Given the description of an element on the screen output the (x, y) to click on. 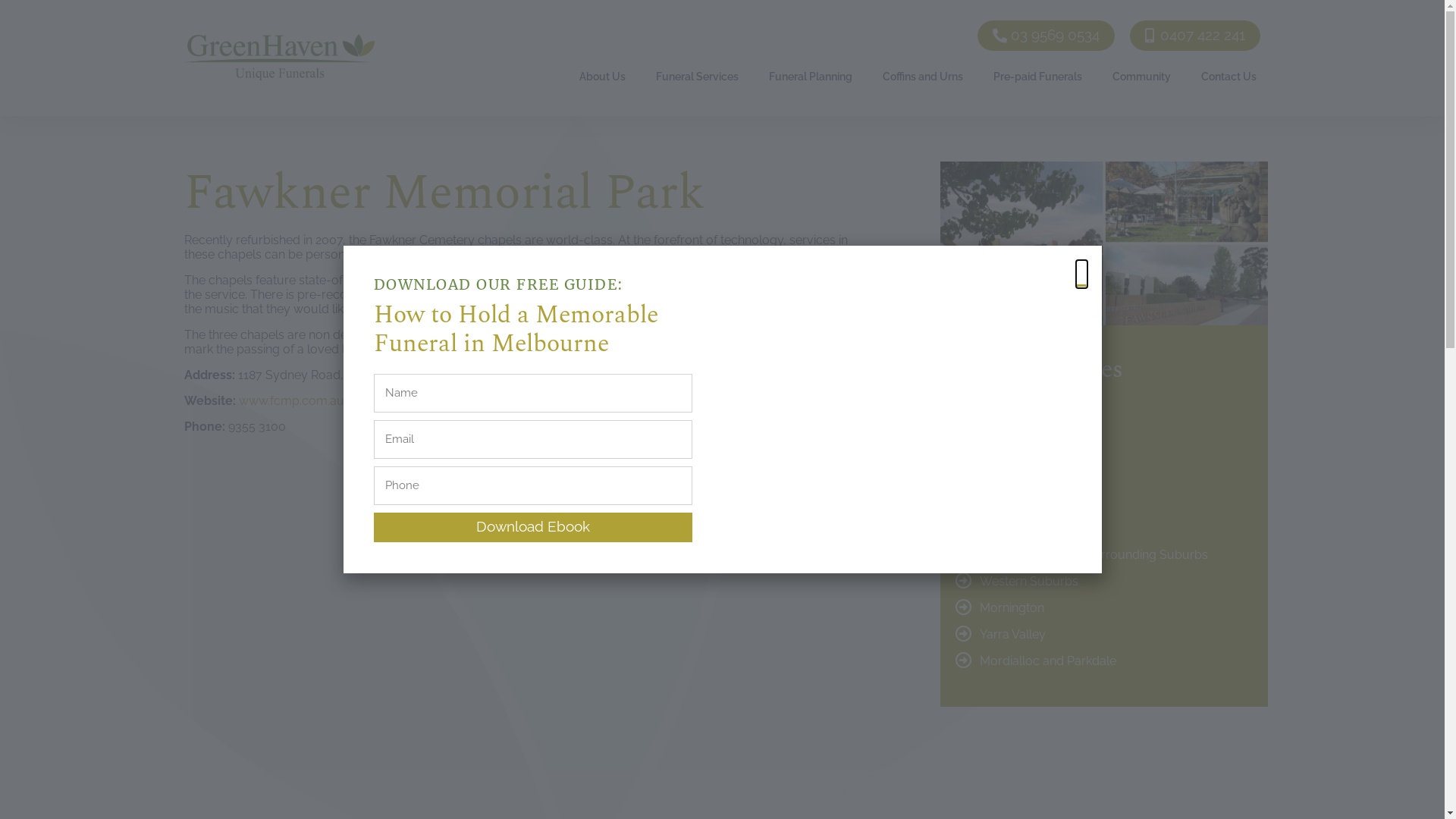
03 9569 0534 Element type: text (1045, 35)
Western Suburbs Element type: text (1103, 580)
Mordialloc and Parkdale Element type: text (1103, 660)
Yarra Valley Element type: text (1103, 633)
Funeral Planning Element type: text (810, 76)
Community Element type: text (1141, 76)
Download Ebook Element type: text (532, 527)
Coffins and Urns Element type: text (949, 37)
About Us Element type: text (602, 76)
Inner City Suburbs Element type: text (1103, 500)
Eastern Suburbs Element type: text (1103, 474)
Funeral Services Element type: text (697, 76)
www.fcmp.com.au Element type: text (290, 400)
About Us Element type: text (651, 37)
Contact Us Element type: text (1232, 37)
Bayside Suburbs Element type: text (1103, 447)
Northern Suburbs Element type: text (1103, 527)
Community Element type: text (1152, 37)
Funeral Planning Element type: text (844, 37)
0407 422 241 Element type: text (1194, 35)
Pre-paid Funerals Element type: text (1056, 37)
Mornington Element type: text (1103, 607)
Contact Us Element type: text (1228, 76)
South Eastern and Surrounding Suburbs Element type: text (1103, 554)
Coffins and Urns Element type: text (922, 76)
Pre-paid Funerals Element type: text (1037, 76)
Funeral Services Element type: text (738, 37)
